Given the description of an element on the screen output the (x, y) to click on. 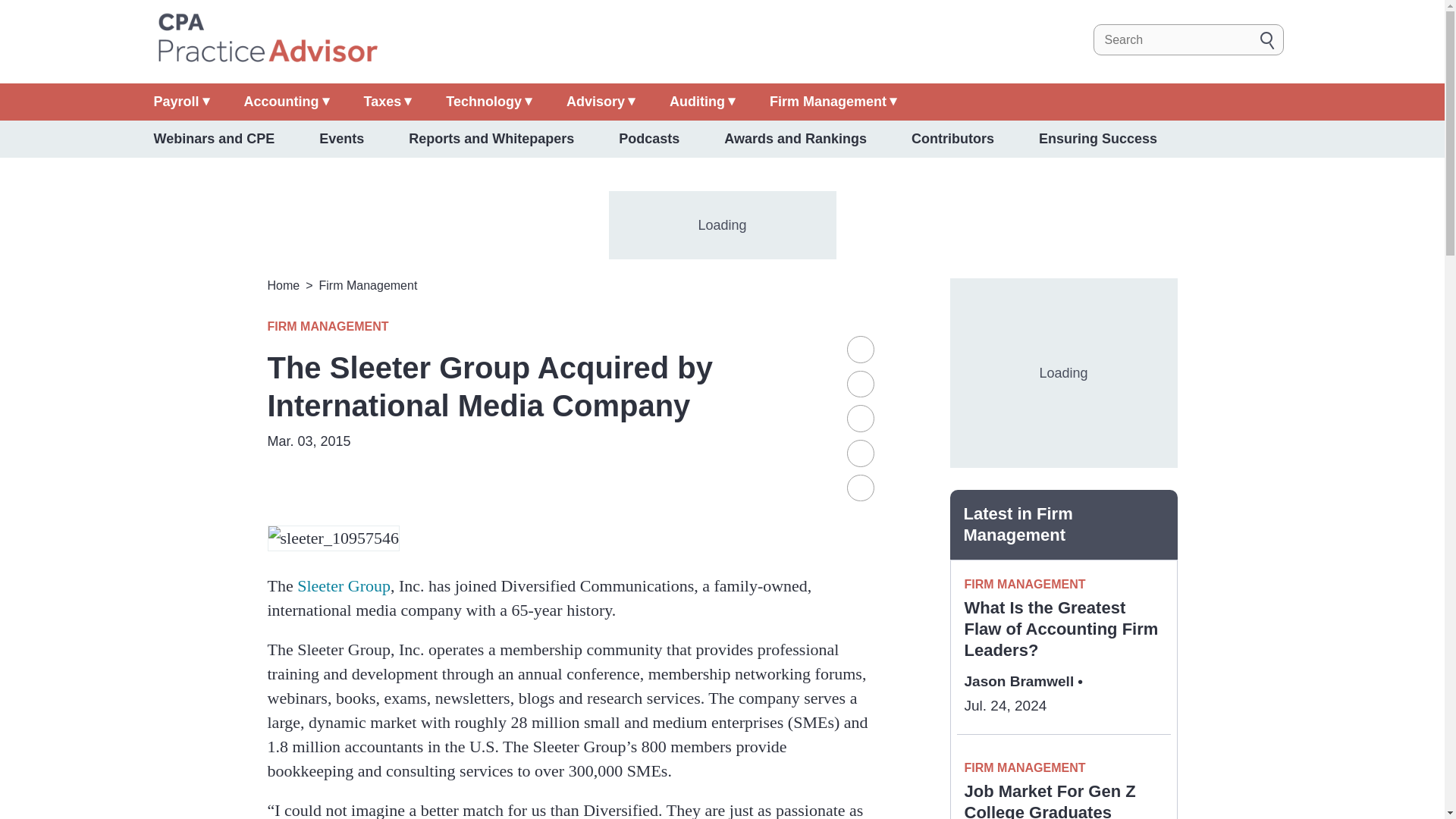
Technology (488, 101)
Home (266, 39)
Advisory (600, 101)
Payroll (180, 101)
Taxes (388, 101)
Accounting (287, 101)
Auditing (702, 101)
